Given the description of an element on the screen output the (x, y) to click on. 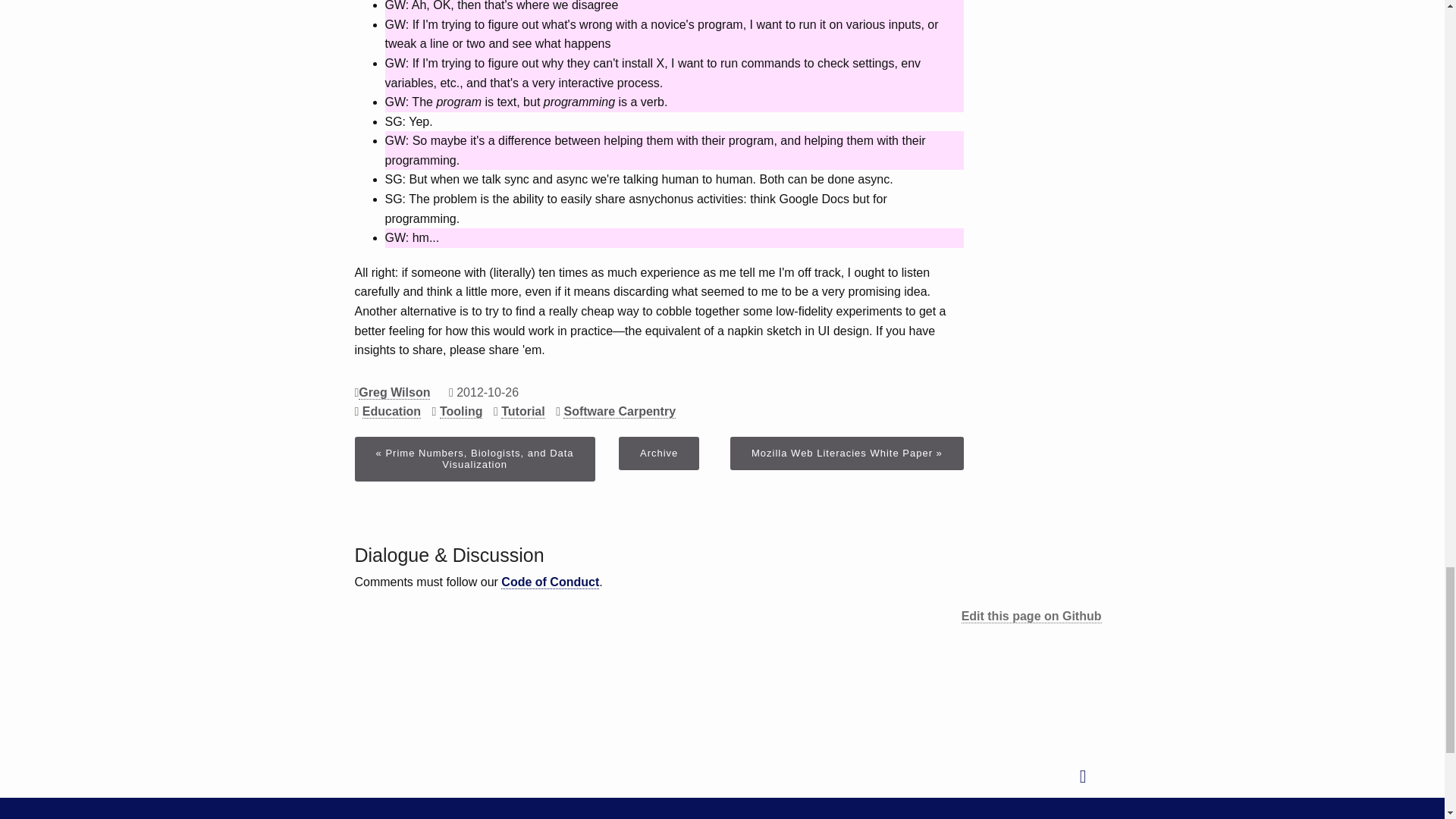
Blog Archive (658, 453)
